Given the description of an element on the screen output the (x, y) to click on. 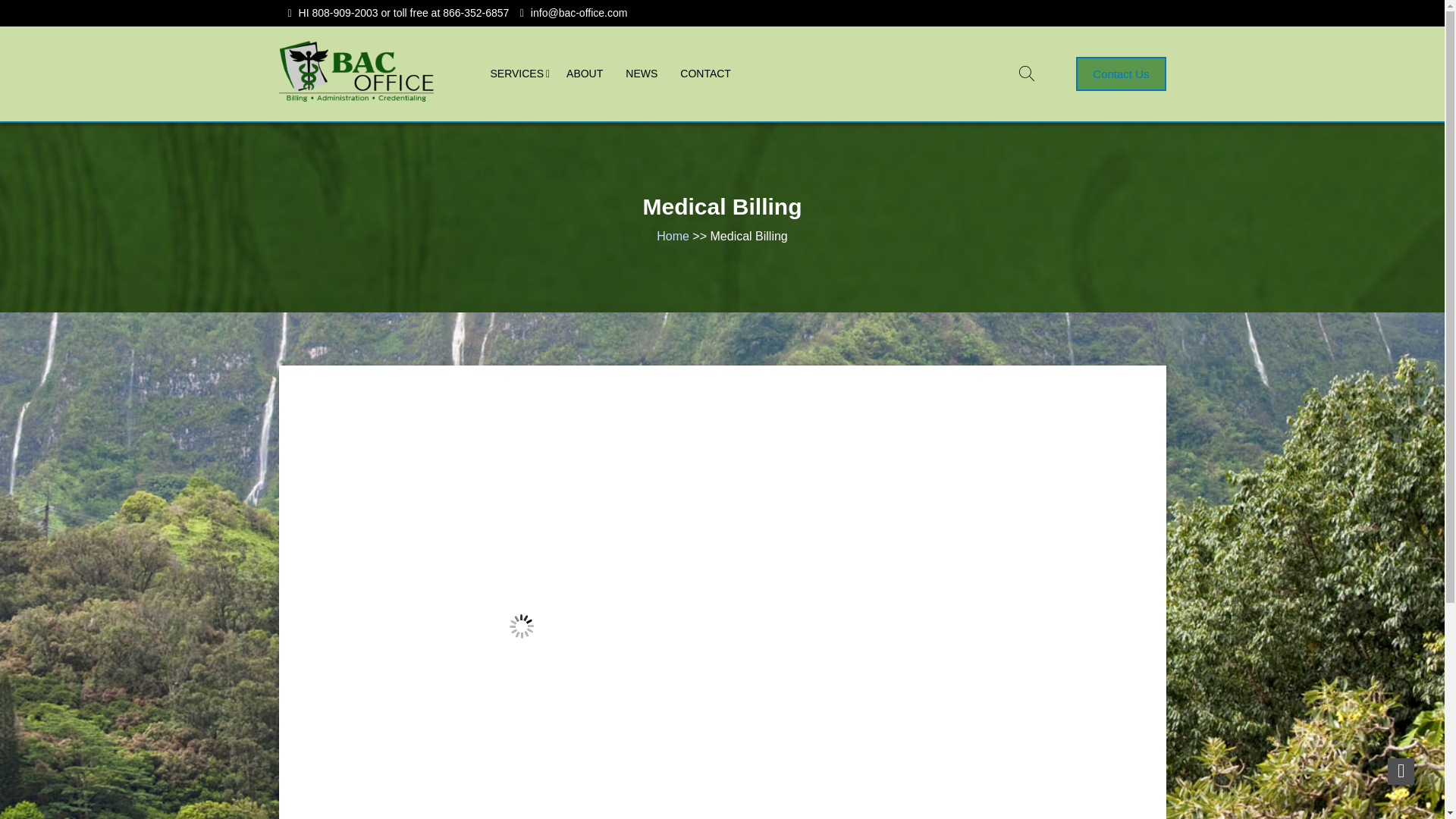
NEWS (641, 73)
SERVICES (517, 73)
Contact Us (1120, 73)
CONTACT (705, 73)
HI 808-909-2003 or toll free at 866-352-6857 (403, 12)
BAC Office (320, 118)
Search (882, 409)
ABOUT (584, 73)
Home (672, 236)
